Given the description of an element on the screen output the (x, y) to click on. 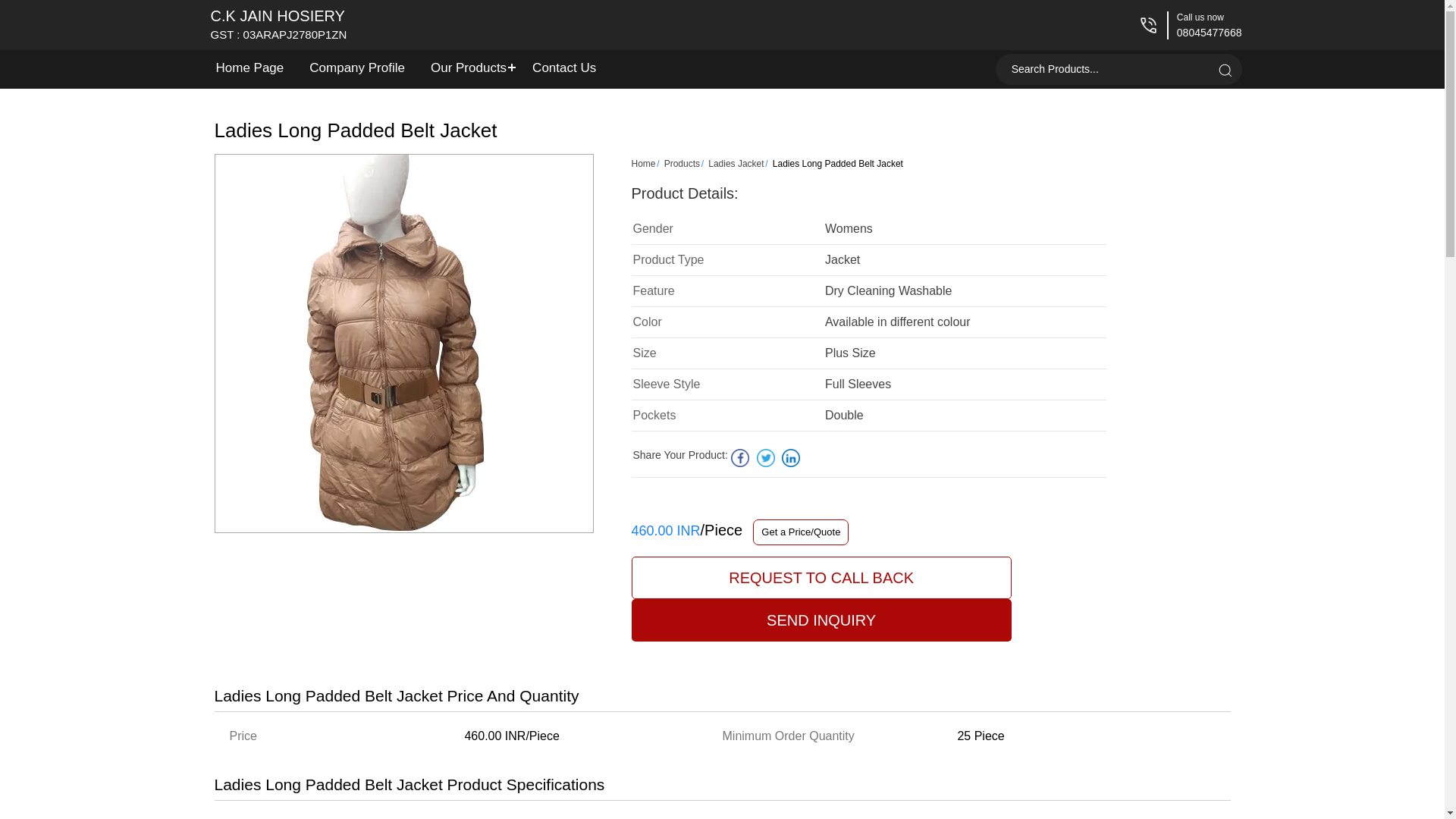
REQUEST TO CALL BACK (820, 577)
Ladies Jacket (734, 163)
Products (681, 163)
Search (279, 24)
Contact Us (1224, 70)
Search Products... (563, 67)
Home Page (1103, 69)
Company Profile (250, 67)
Home (357, 67)
